Given the description of an element on the screen output the (x, y) to click on. 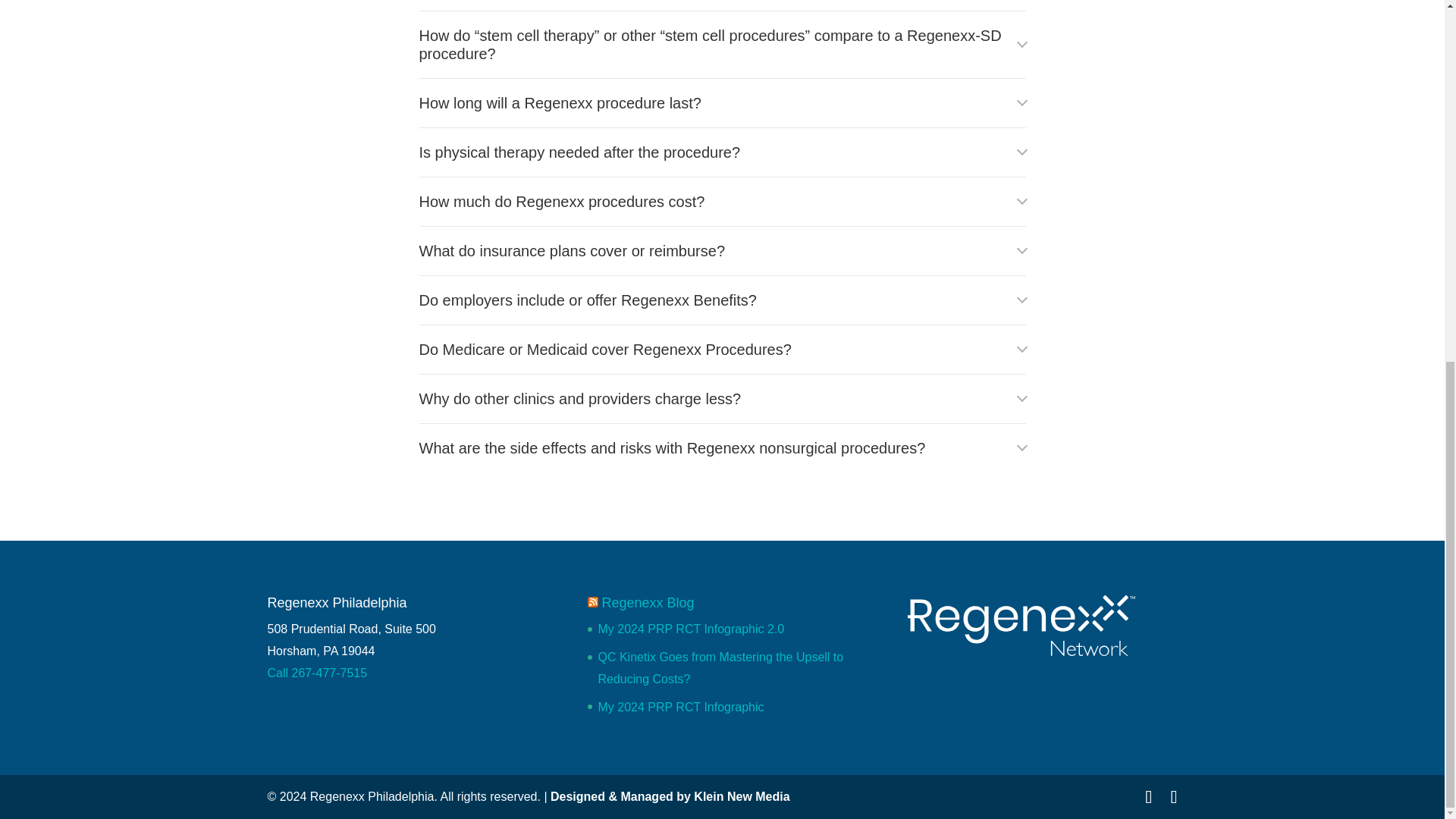
Regenexx Network Logo (1020, 625)
